Given the description of an element on the screen output the (x, y) to click on. 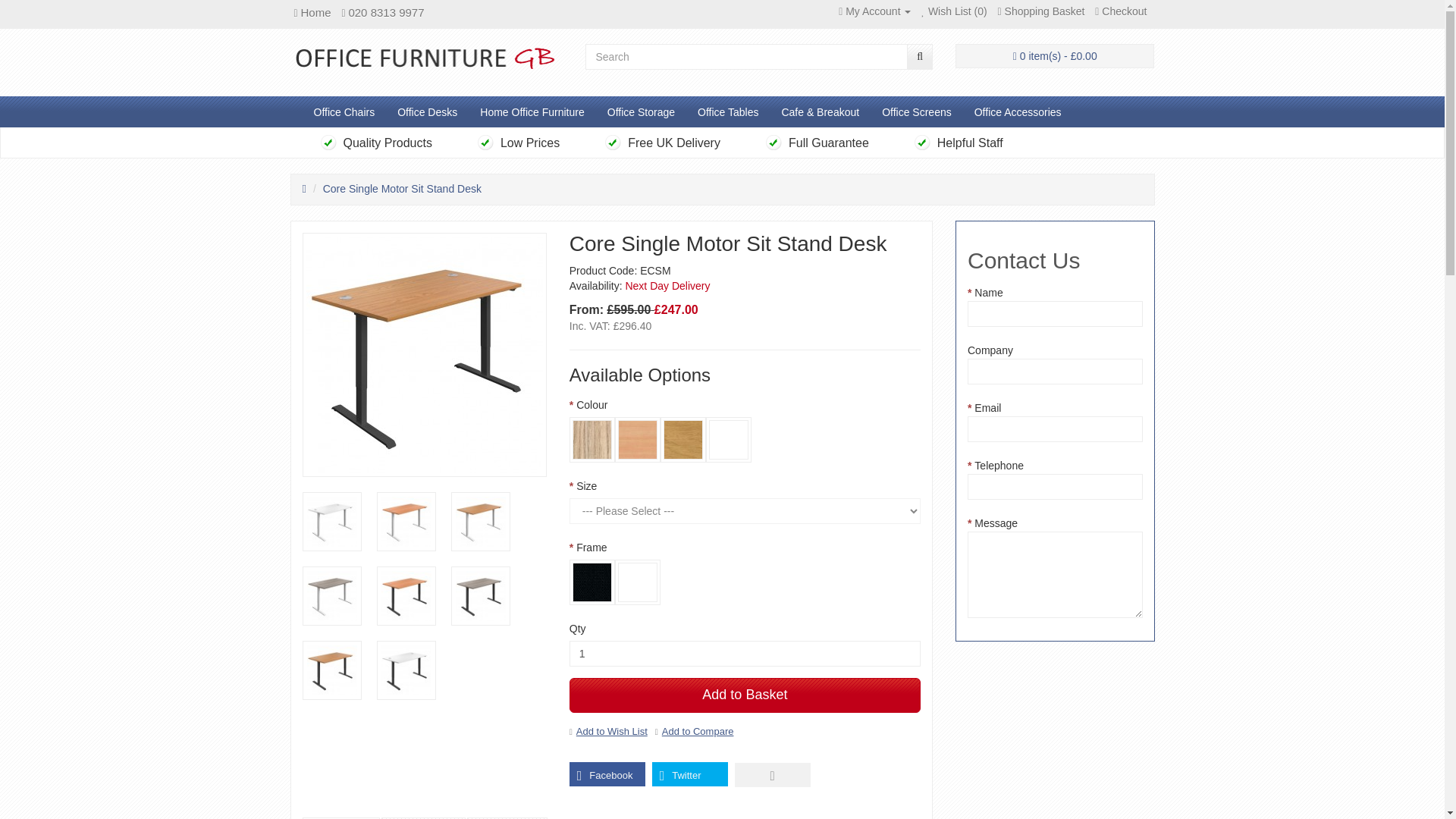
Office Chairs (343, 112)
Core Single Motor Sit Stand Desk (405, 521)
 Colour: BeechFrame: Black (405, 595)
Checkout (1120, 10)
Home (312, 12)
Shopping Basket (1054, 59)
1 (744, 653)
My Account (874, 10)
My Account (874, 10)
Shopping Basket (1040, 10)
Core Single Motor Sit Stand Desk (479, 521)
Shopping Basket (1040, 10)
Office Furniture GB (425, 56)
Core Single Motor Sit Stand Desk (405, 595)
Checkout (1120, 10)
